Given the description of an element on the screen output the (x, y) to click on. 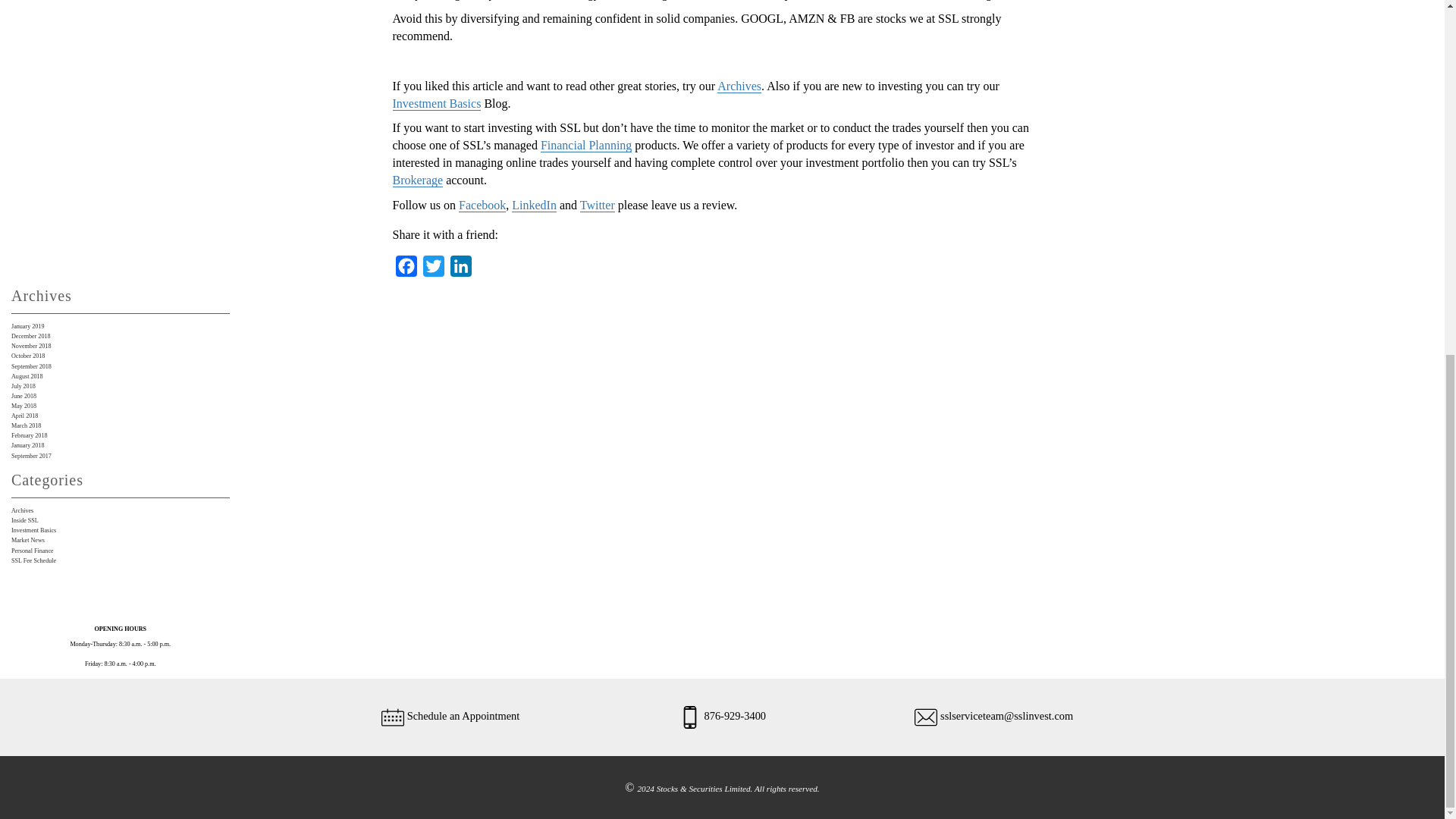
September 2017 (30, 455)
August 2018 (27, 376)
Personal Finance (32, 550)
Financial Planning (585, 144)
LinkedIn (460, 269)
LinkedIn (534, 205)
June 2018 (23, 396)
Twitter (433, 269)
Archives (22, 510)
Investment Basics (437, 103)
Schedule an Appointment (463, 715)
Market News (28, 540)
July 2018 (22, 386)
December 2018 (30, 335)
SSL Fee Schedule (33, 560)
